Given the description of an element on the screen output the (x, y) to click on. 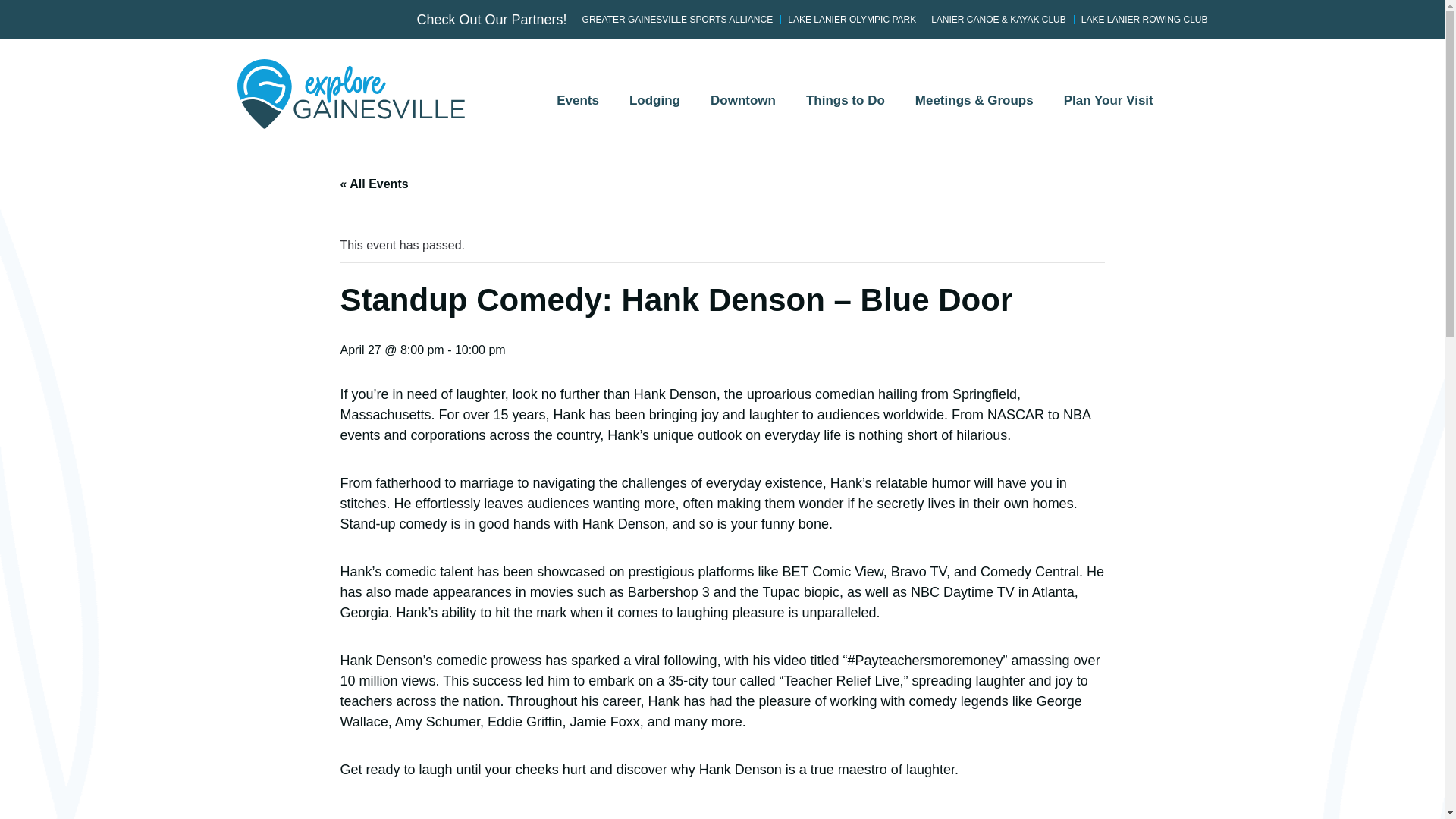
Plan Your Visit (1108, 108)
Lodging (654, 108)
LAKE LANIER ROWING CLUB (1144, 19)
Things to Do (844, 108)
GREATER GAINESVILLE SPORTS ALLIANCE (677, 19)
Downtown (742, 108)
LAKE LANIER OLYMPIC PARK (851, 19)
Events (577, 108)
